Given the description of an element on the screen output the (x, y) to click on. 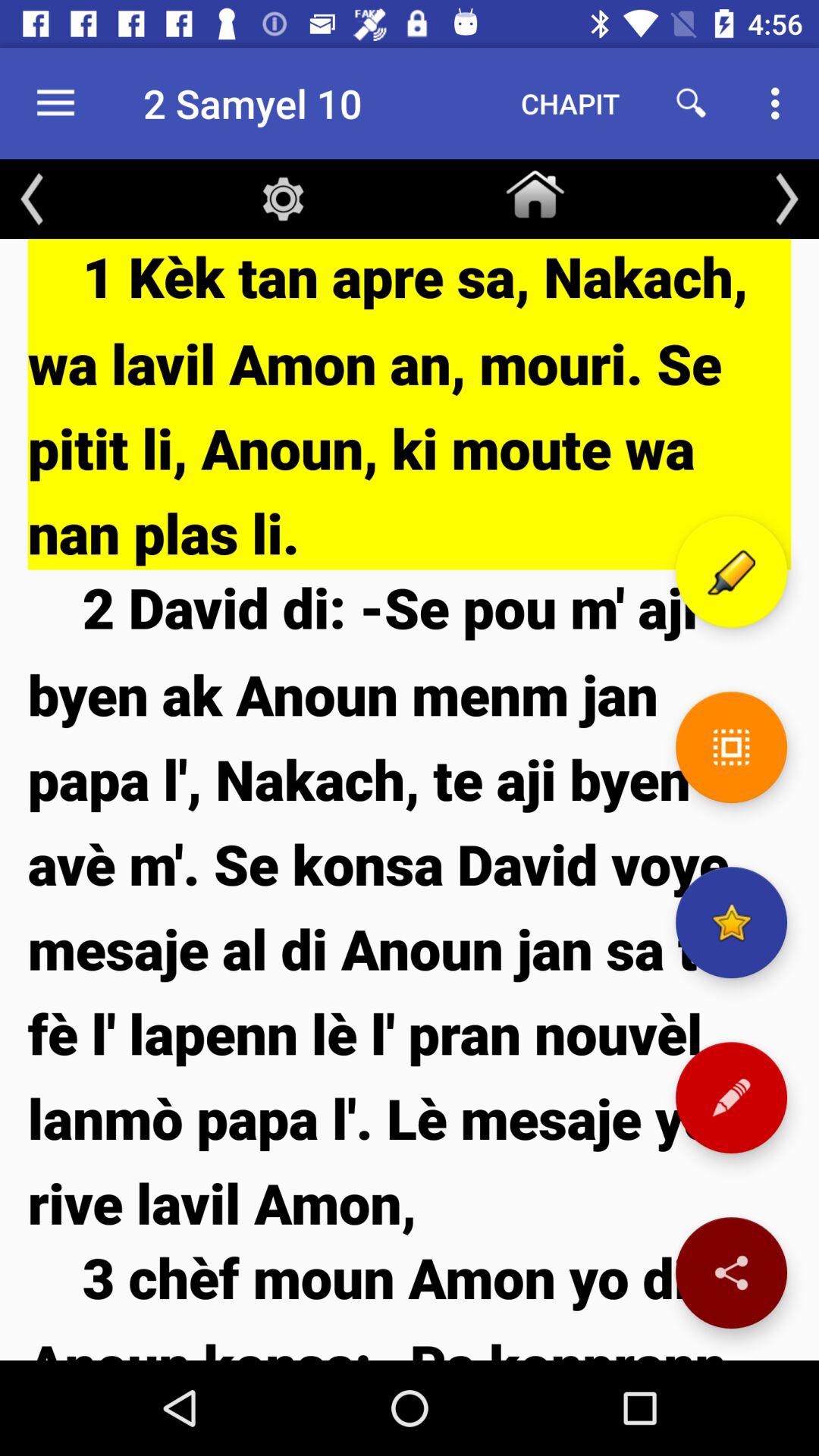
press icon next to chapit (691, 103)
